Given the description of an element on the screen output the (x, y) to click on. 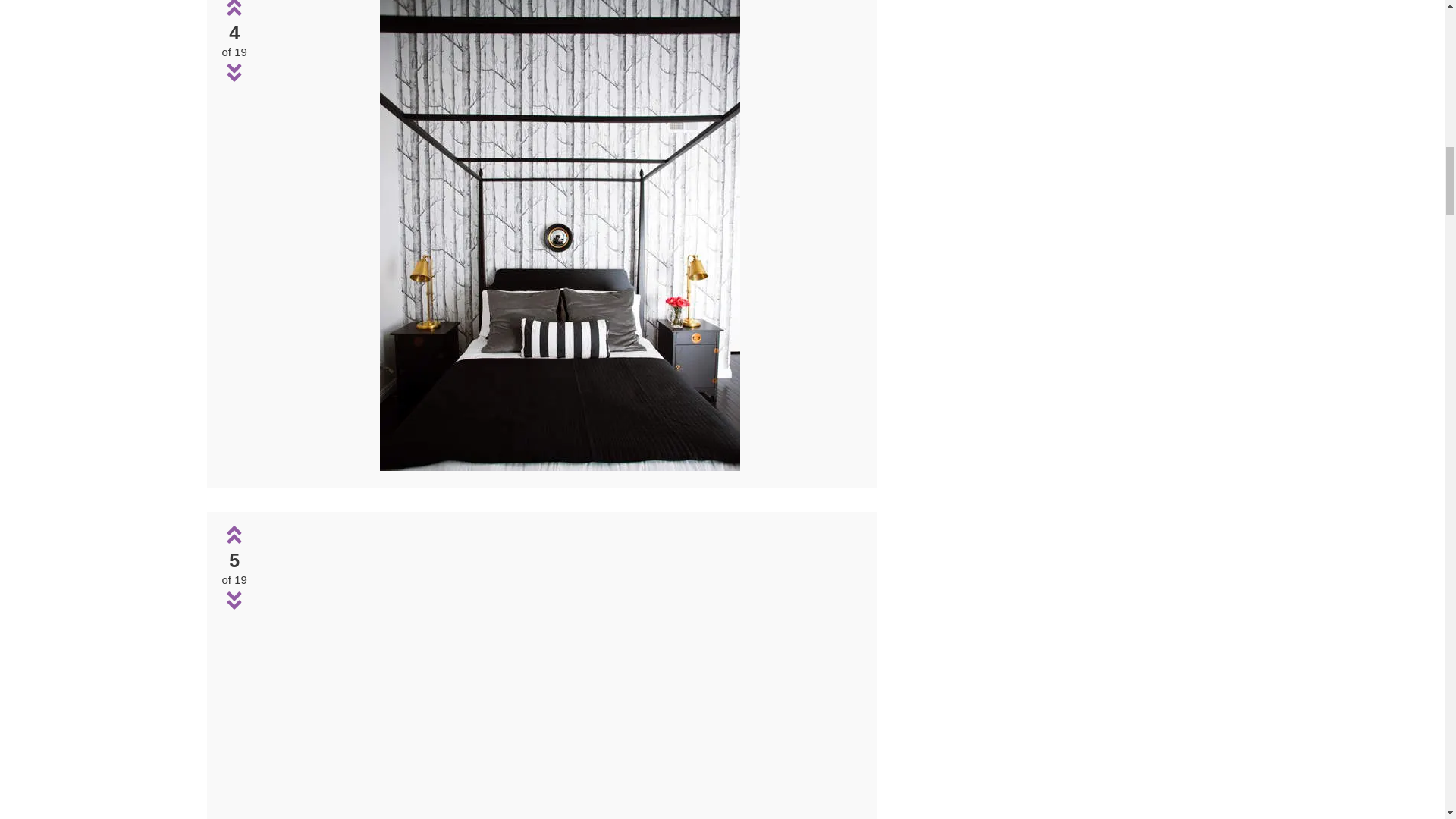
Traditional Black And White Bedroom (559, 671)
Traditional Black And White Bedroom (559, 466)
